Given the description of an element on the screen output the (x, y) to click on. 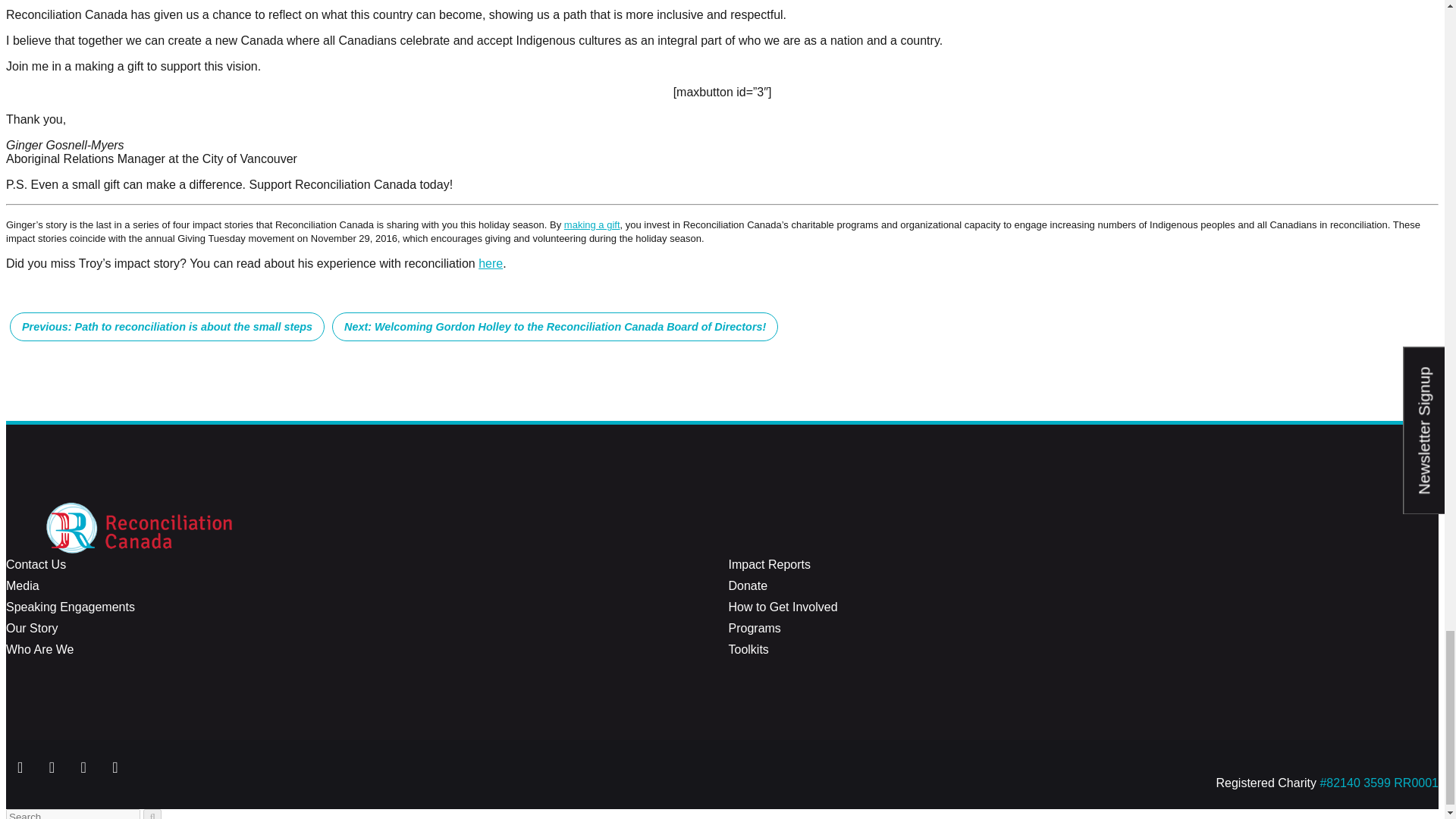
making a gift (592, 224)
